Given the description of an element on the screen output the (x, y) to click on. 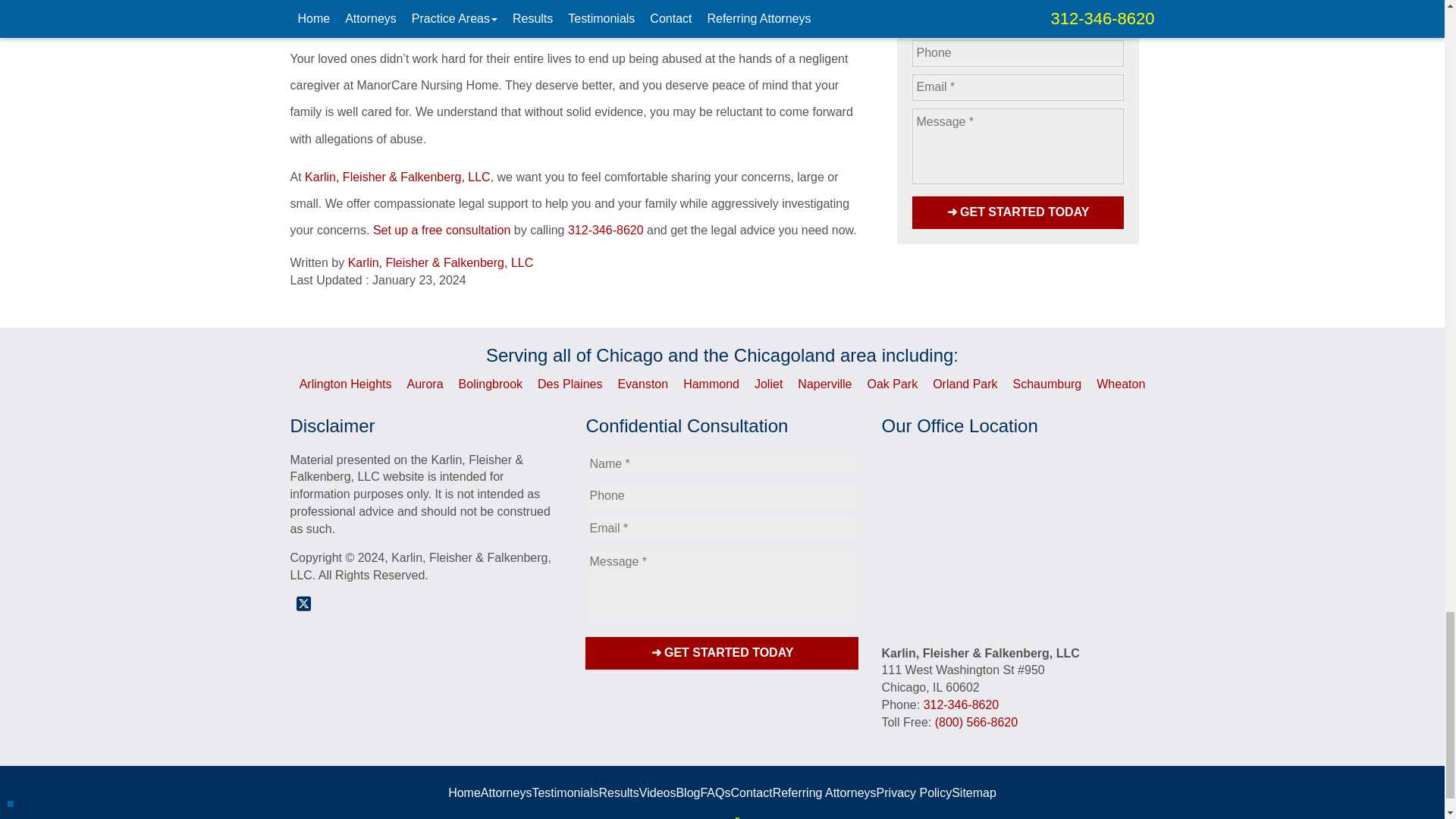
Office Location (1017, 542)
